Given the description of an element on the screen output the (x, y) to click on. 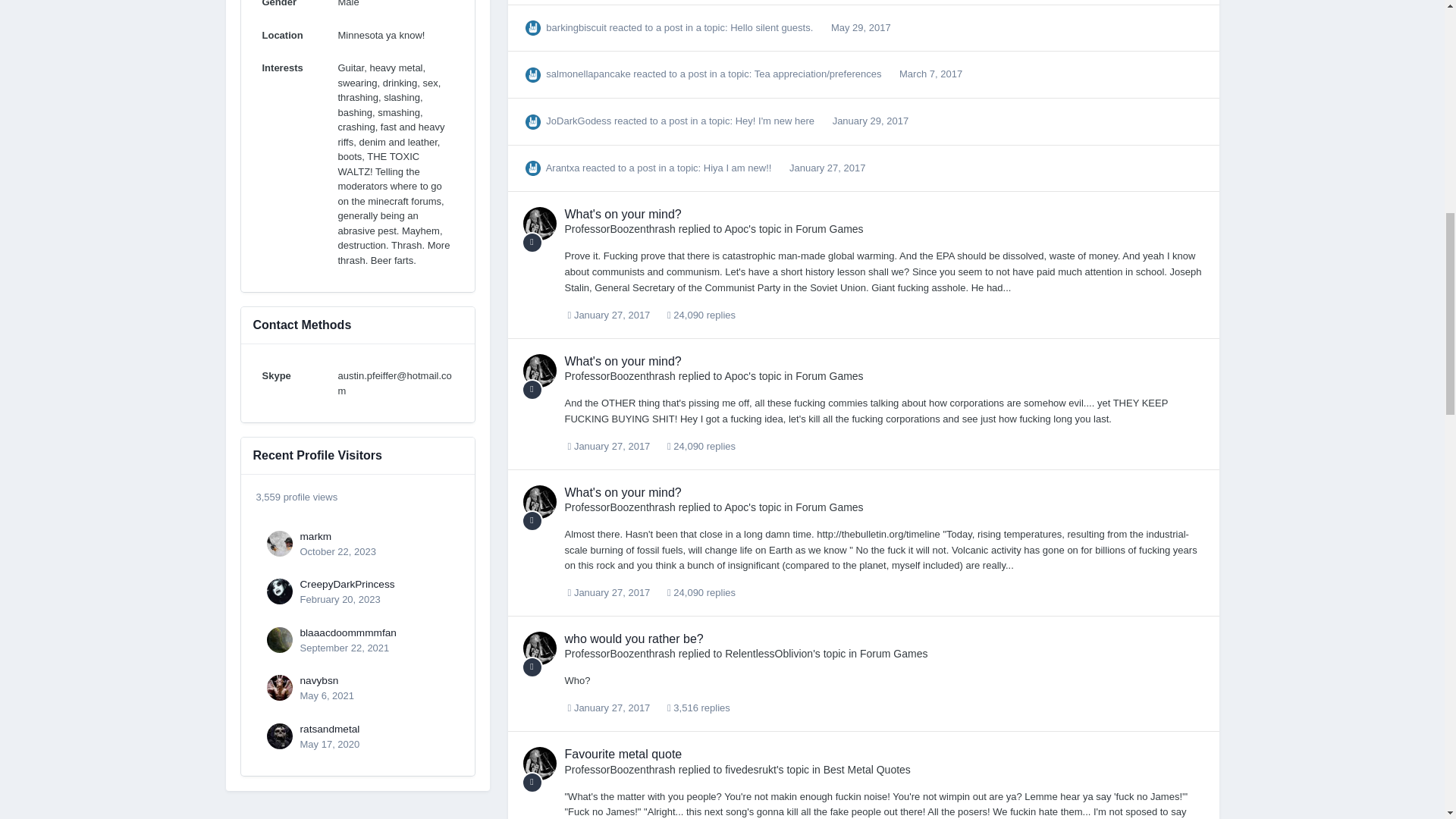
Go to markm's profile (315, 536)
Go to blaaacdoommmmfan's profile (279, 639)
Go to CreepyDarkPrincess's profile (346, 583)
Go to blaaacdoommmmfan's profile (347, 632)
Go to markm's profile (279, 543)
Go to CreepyDarkPrincess's profile (279, 591)
